Given the description of an element on the screen output the (x, y) to click on. 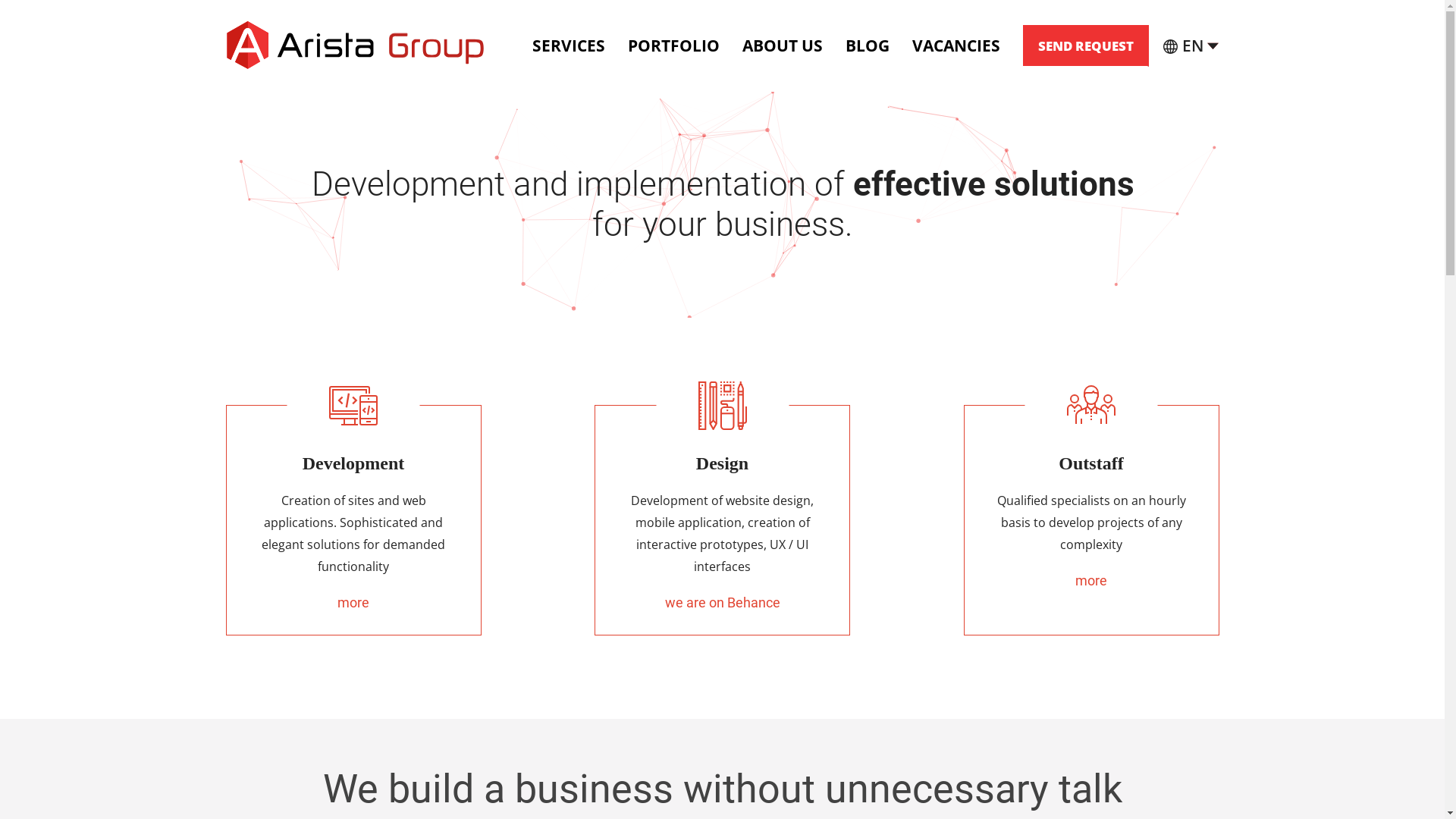
more Element type: text (1091, 580)
PORTFOLIO Element type: text (673, 45)
VACANCIES Element type: text (955, 45)
more Element type: text (353, 602)
BLOG Element type: text (866, 45)
ABOUT US Element type: text (781, 45)
SERVICES Element type: text (568, 45)
SEND REQUEST Element type: text (1085, 45)
we are on Behance Element type: text (721, 602)
